Given the description of an element on the screen output the (x, y) to click on. 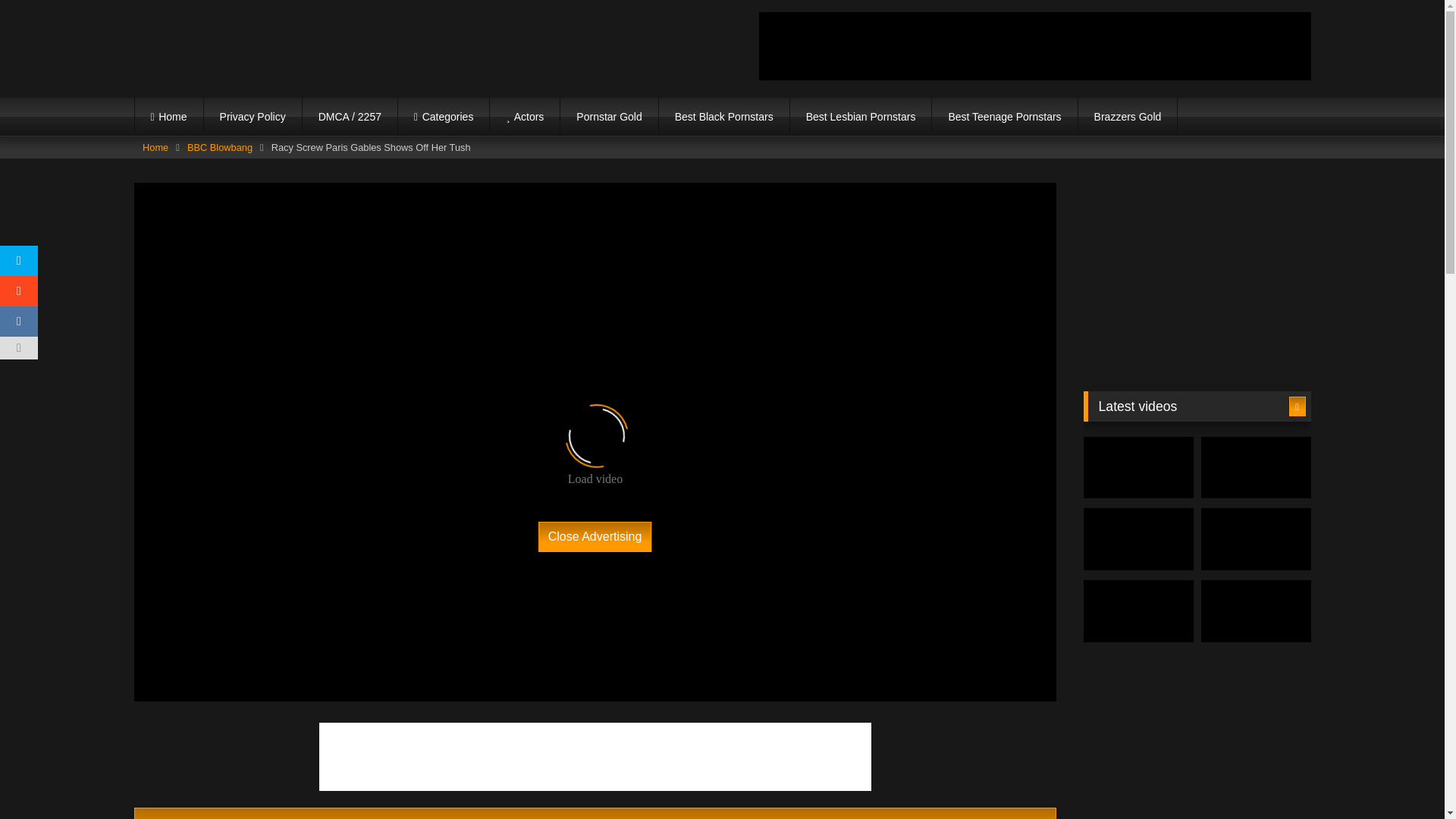
Best Teenage Pornstars (1004, 116)
Download complete video now! (594, 813)
Best Black Pornstars (724, 116)
BBC Blowbang (219, 147)
Home (155, 147)
Pornstar Gold (609, 116)
Brazzers Gold (1127, 116)
Racy Screw Paris Gables Shows Off Her Tush (594, 813)
Categories (443, 116)
Perfect Floozie Sera Ryder Needs A Powerful Spurt (1137, 467)
Best Lesbian Pornstars (860, 116)
Privacy Policy (252, 116)
Blacked Hard (265, 48)
Actors (524, 116)
Close Advertising (595, 536)
